Given the description of an element on the screen output the (x, y) to click on. 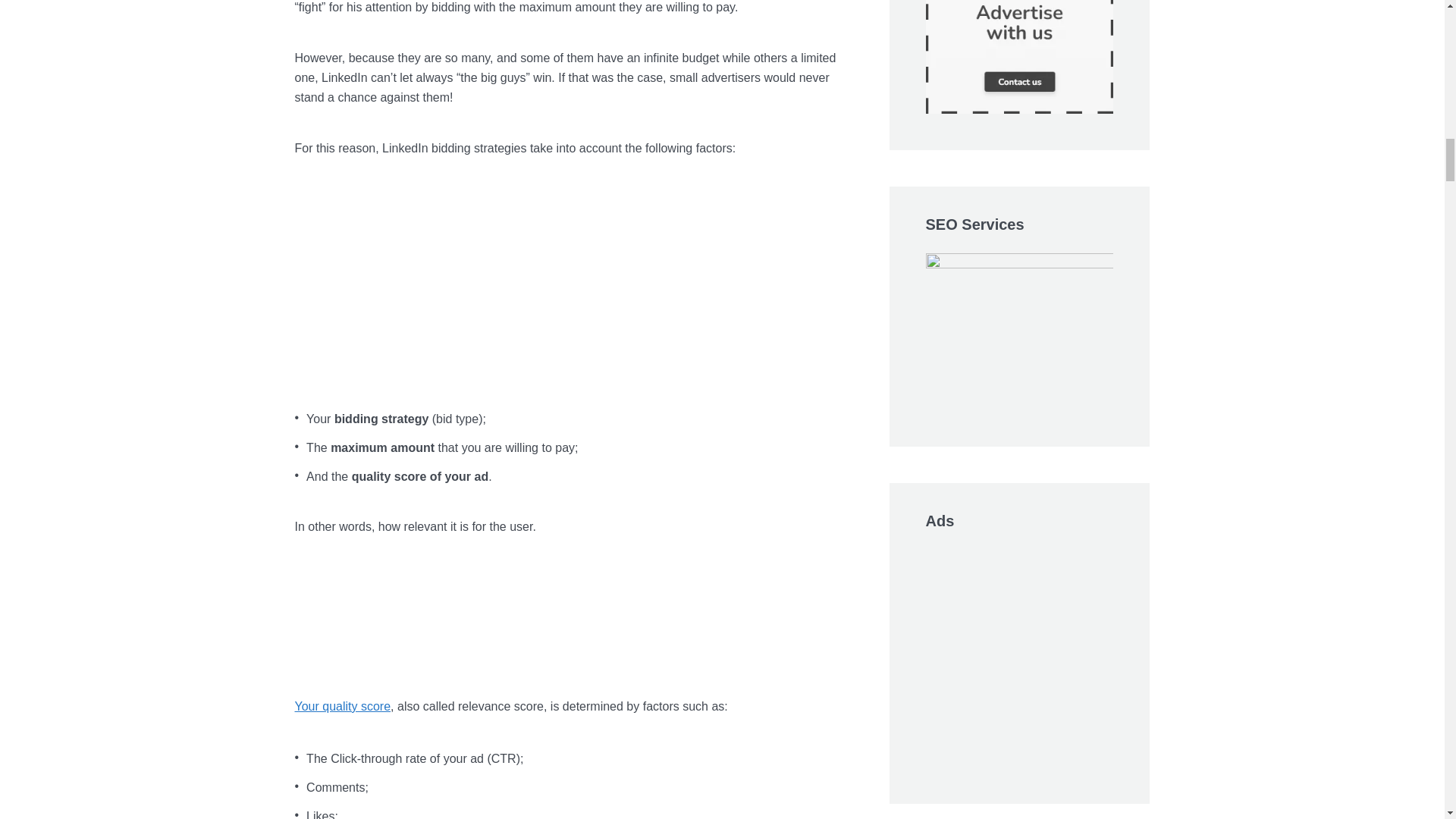
Your quality score (342, 706)
